Given the description of an element on the screen output the (x, y) to click on. 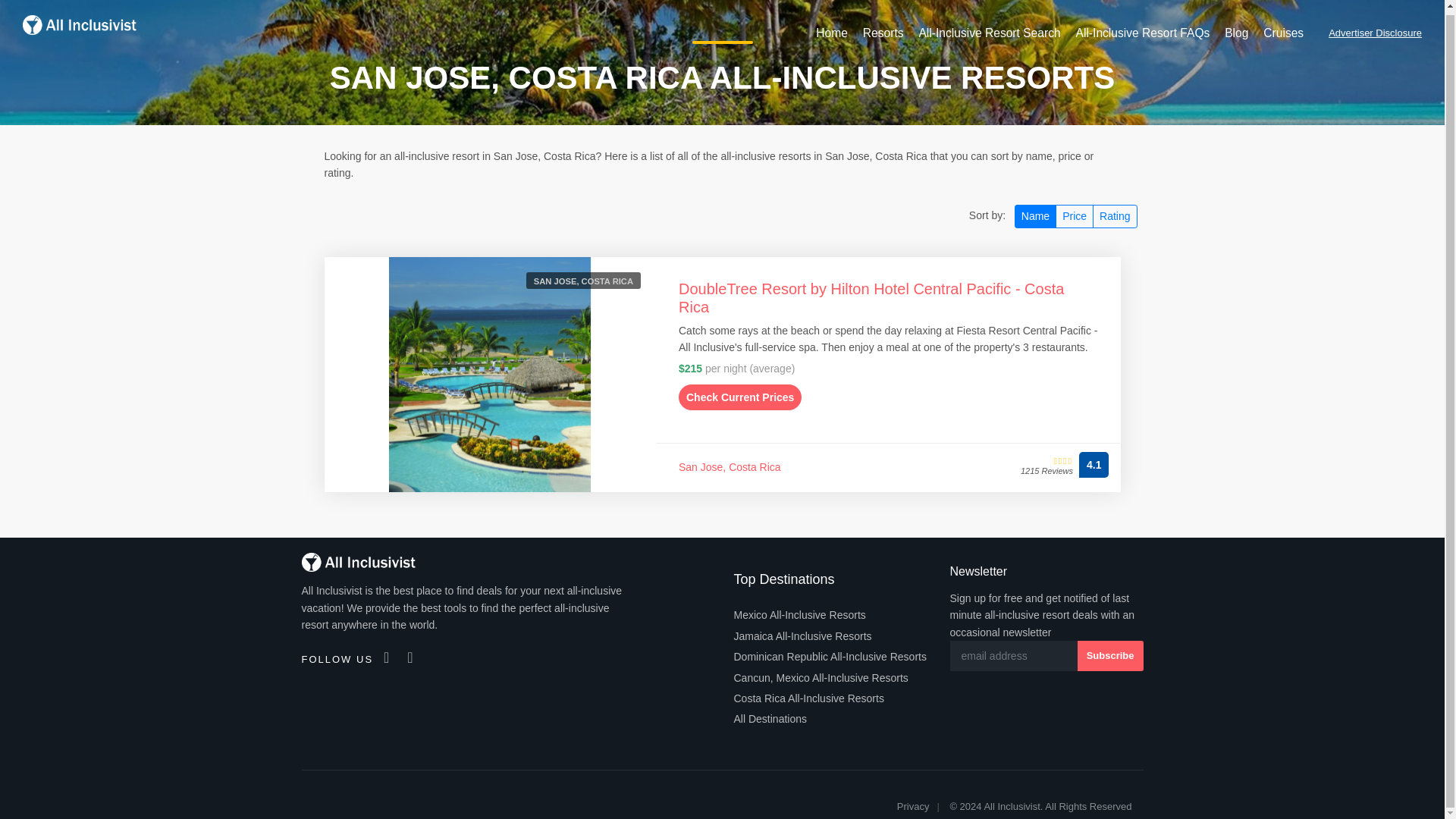
Subscribe (1109, 655)
Cancun, Mexico All-Inclusive Resorts (820, 677)
Dominican Republic All-Inclusive Resorts (829, 656)
Privacy (913, 806)
Mexico All-Inclusive Resorts (799, 614)
Subscribe (1109, 655)
Rating (1115, 216)
Check Current Prices (740, 397)
Price (1074, 216)
Jamaica All-Inclusive Resorts (802, 636)
Name (1035, 216)
Costa Rica All-Inclusive Resorts (808, 698)
All Destinations (770, 718)
San Jose, Costa Rica (729, 467)
